Given the description of an element on the screen output the (x, y) to click on. 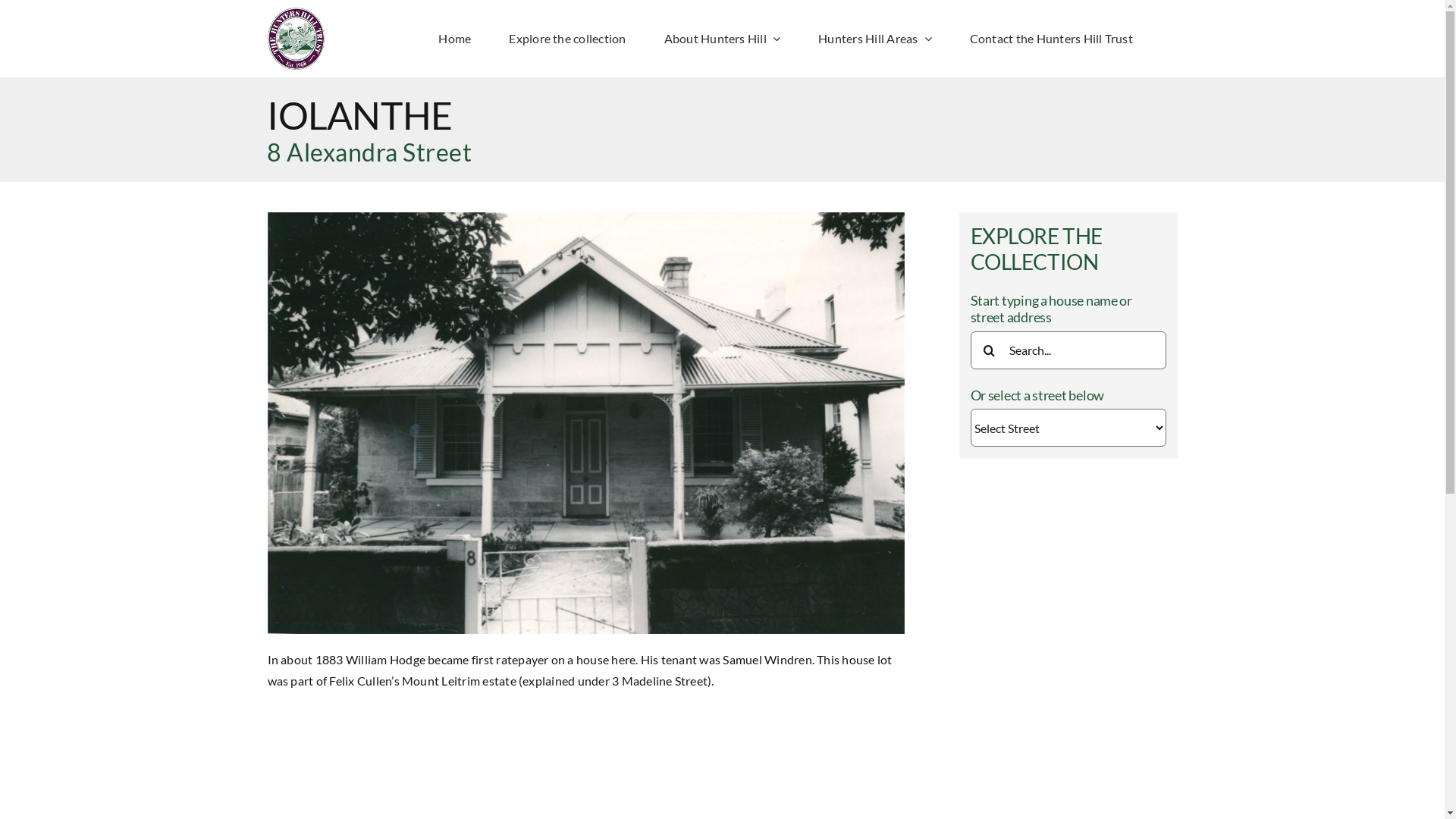
Home Element type: text (454, 38)
Contact the Hunters Hill Trust Element type: text (1050, 38)
About Hunters Hill Element type: text (722, 38)
Hunters Hill Areas Element type: text (874, 38)
Explore the collection Element type: text (566, 38)
View Larger Image Element type: text (584, 422)
